Given the description of an element on the screen output the (x, y) to click on. 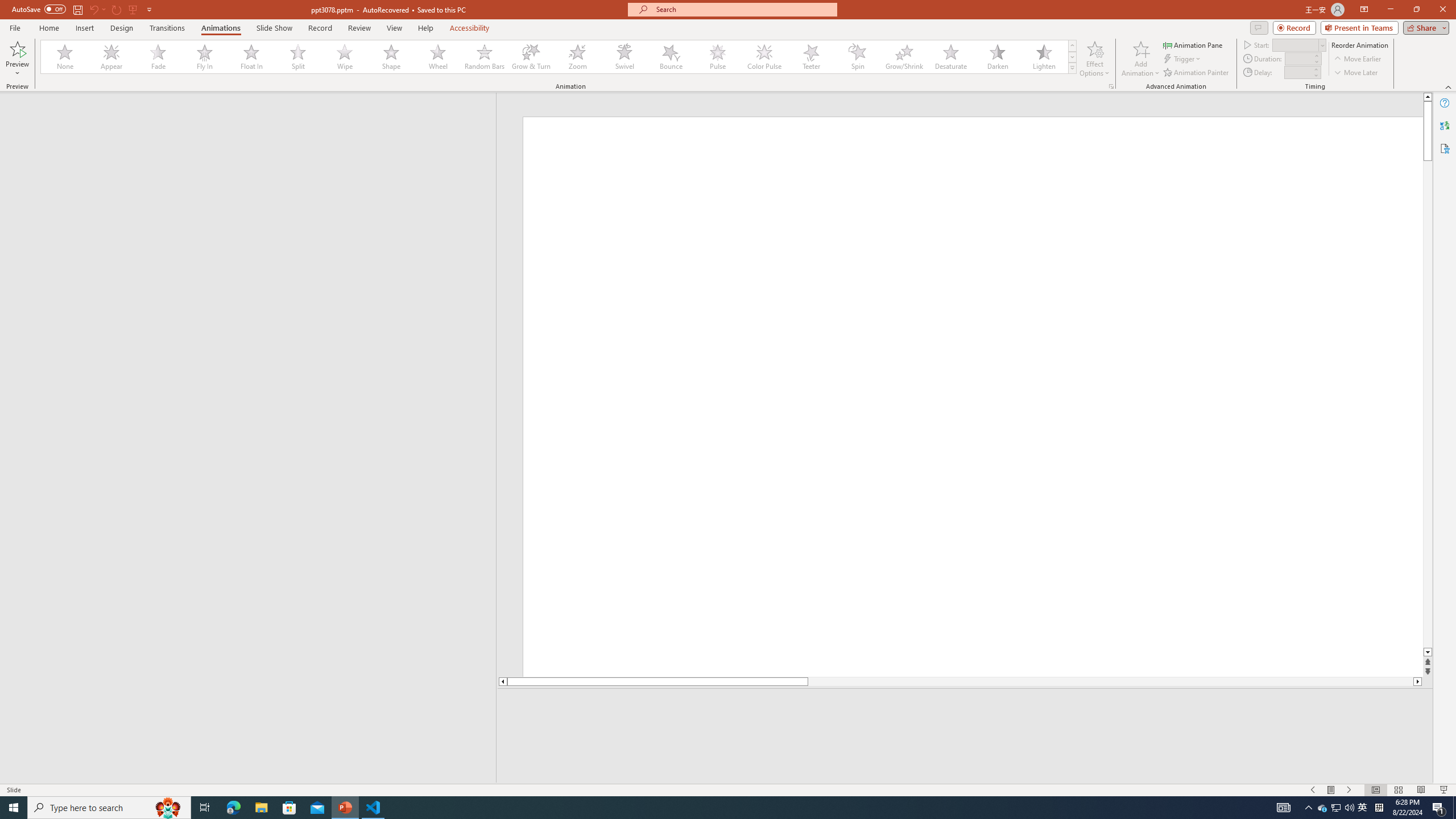
Animation Pane (1193, 44)
Outline (252, 114)
Effect Options (1094, 58)
Add Animation (1141, 58)
More Options... (1110, 85)
Grow/Shrink (903, 56)
